Given the description of an element on the screen output the (x, y) to click on. 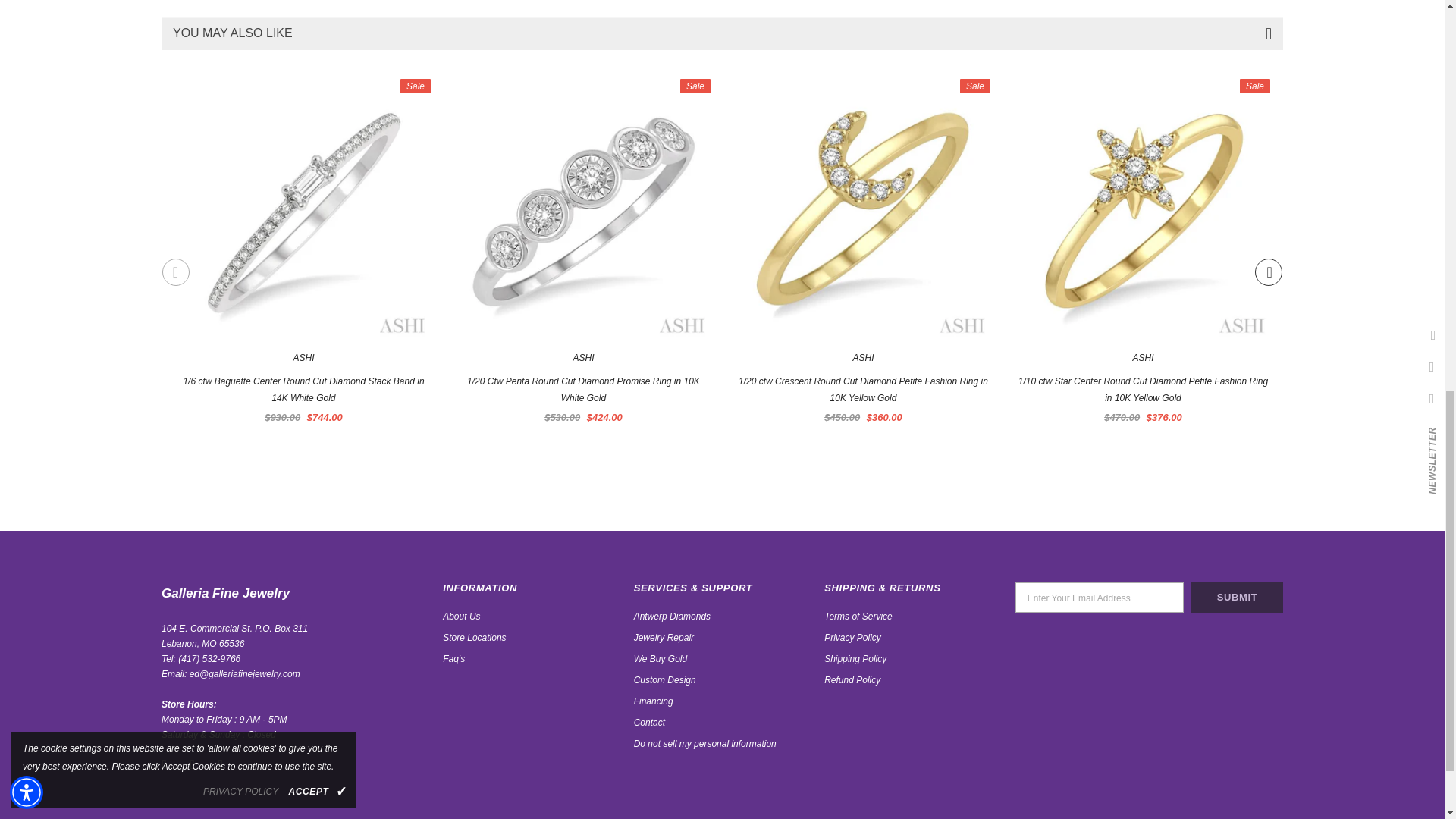
Submit (1236, 597)
